Given the description of an element on the screen output the (x, y) to click on. 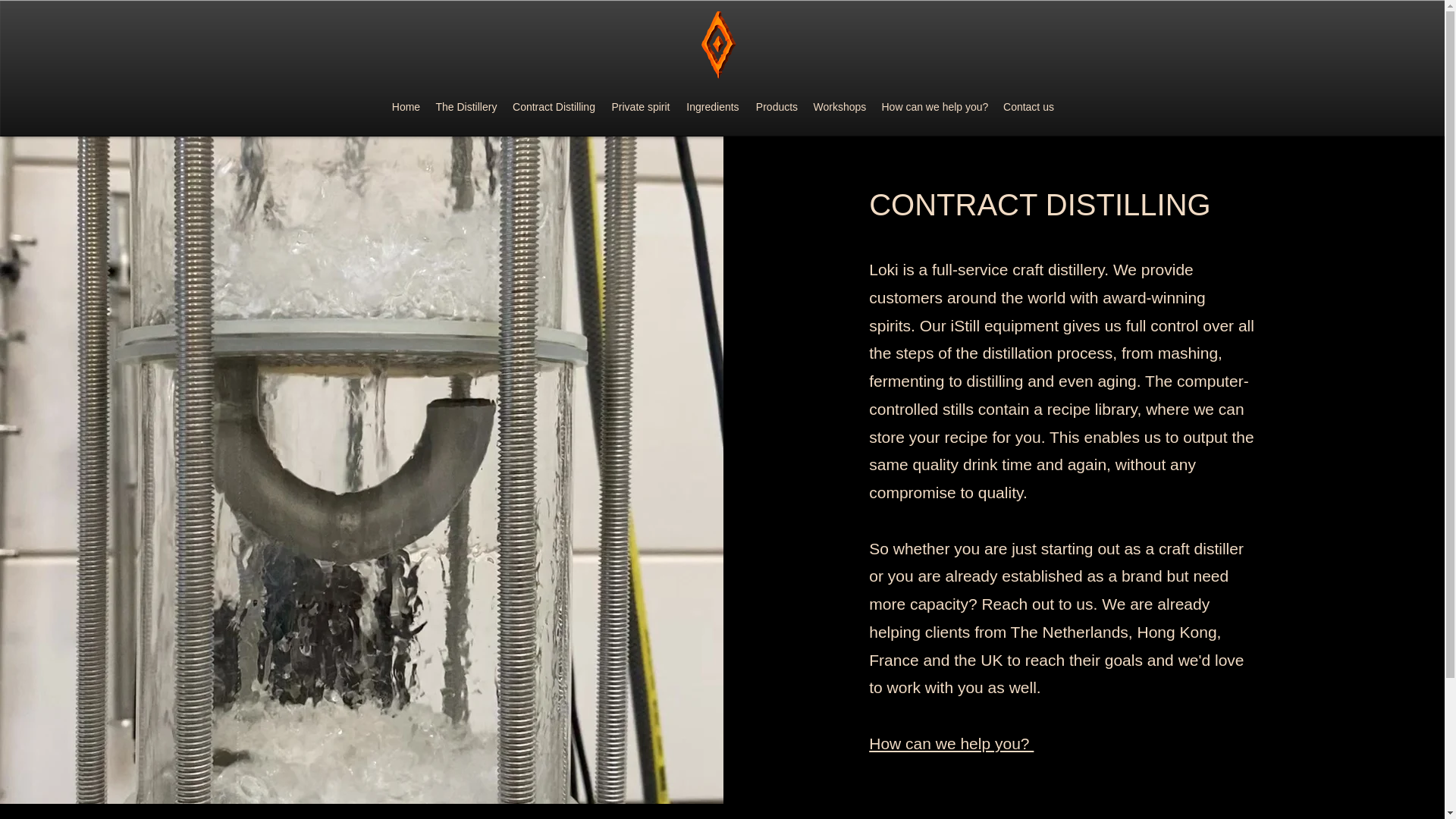
Products (776, 107)
Home (406, 107)
How can we help you? (933, 107)
Contact us (1027, 107)
Private spirit (640, 107)
Workshops (839, 107)
Ingredients (712, 107)
The Distillery (465, 107)
How can we help you?  (951, 743)
Contract Distilling (553, 107)
